Given the description of an element on the screen output the (x, y) to click on. 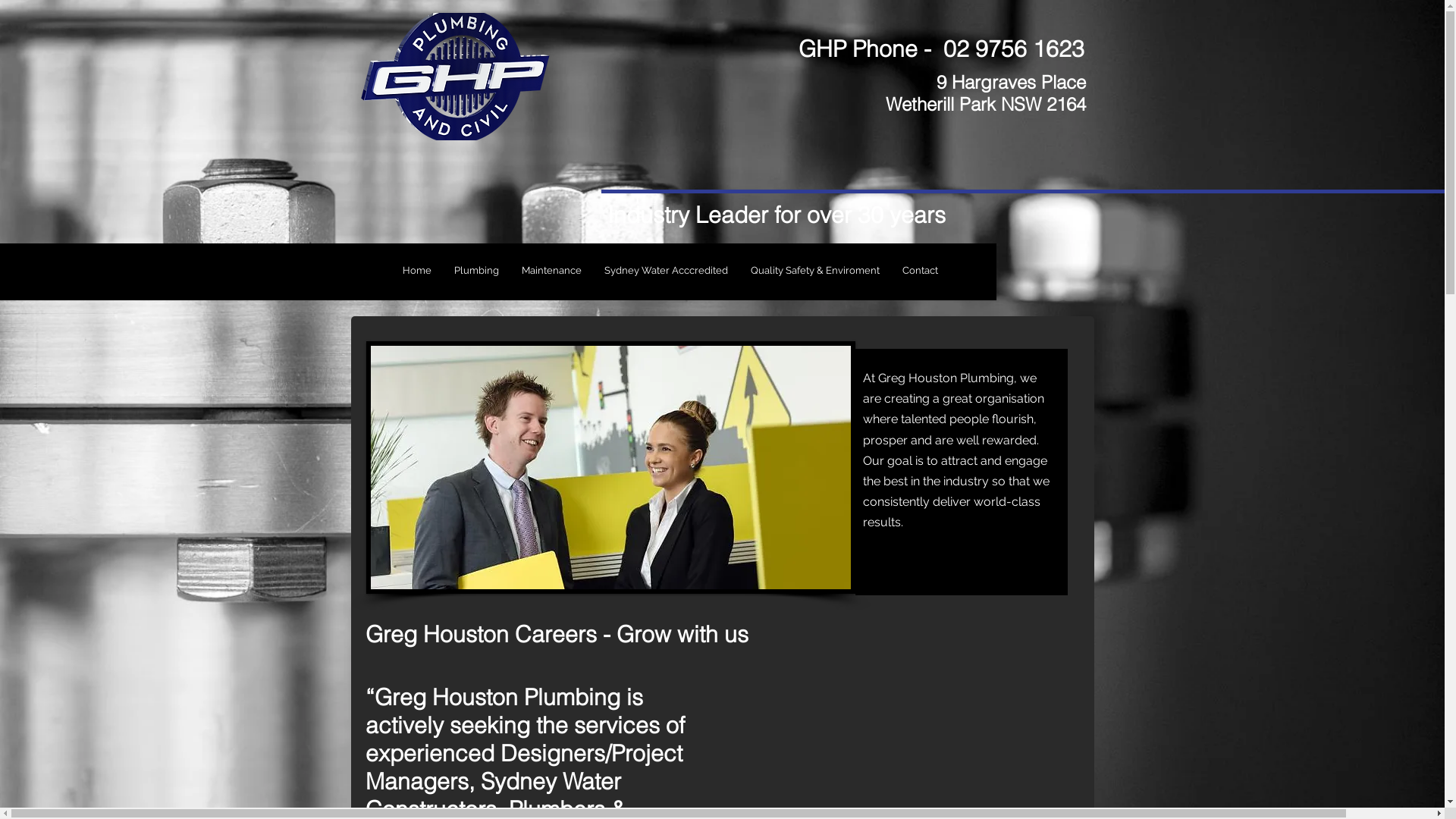
Home Element type: text (416, 270)
Embedded Content Element type: hover (984, 494)
Quality Safety & Enviroment Element type: text (815, 270)
Maintenance Element type: text (551, 270)
Contact Element type: text (920, 270)
Plumbing Element type: text (476, 270)
Sydney Water Acccredited Element type: text (666, 270)
